Given the description of an element on the screen output the (x, y) to click on. 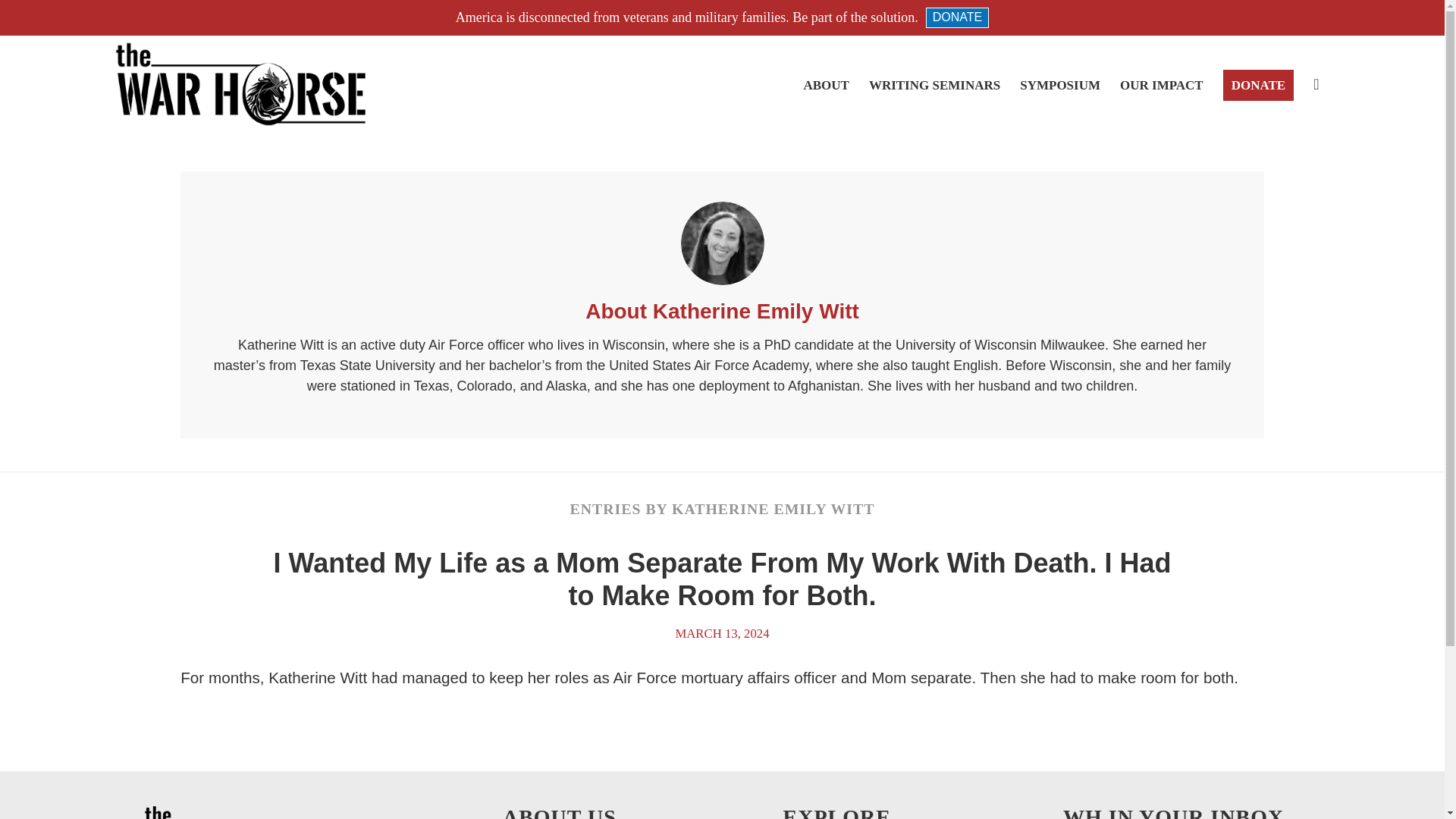
WRITING SEMINARS (934, 84)
DONATE (1257, 84)
SYMPOSIUM (1059, 84)
DONATE (957, 17)
OUR IMPACT (1160, 84)
